Given the description of an element on the screen output the (x, y) to click on. 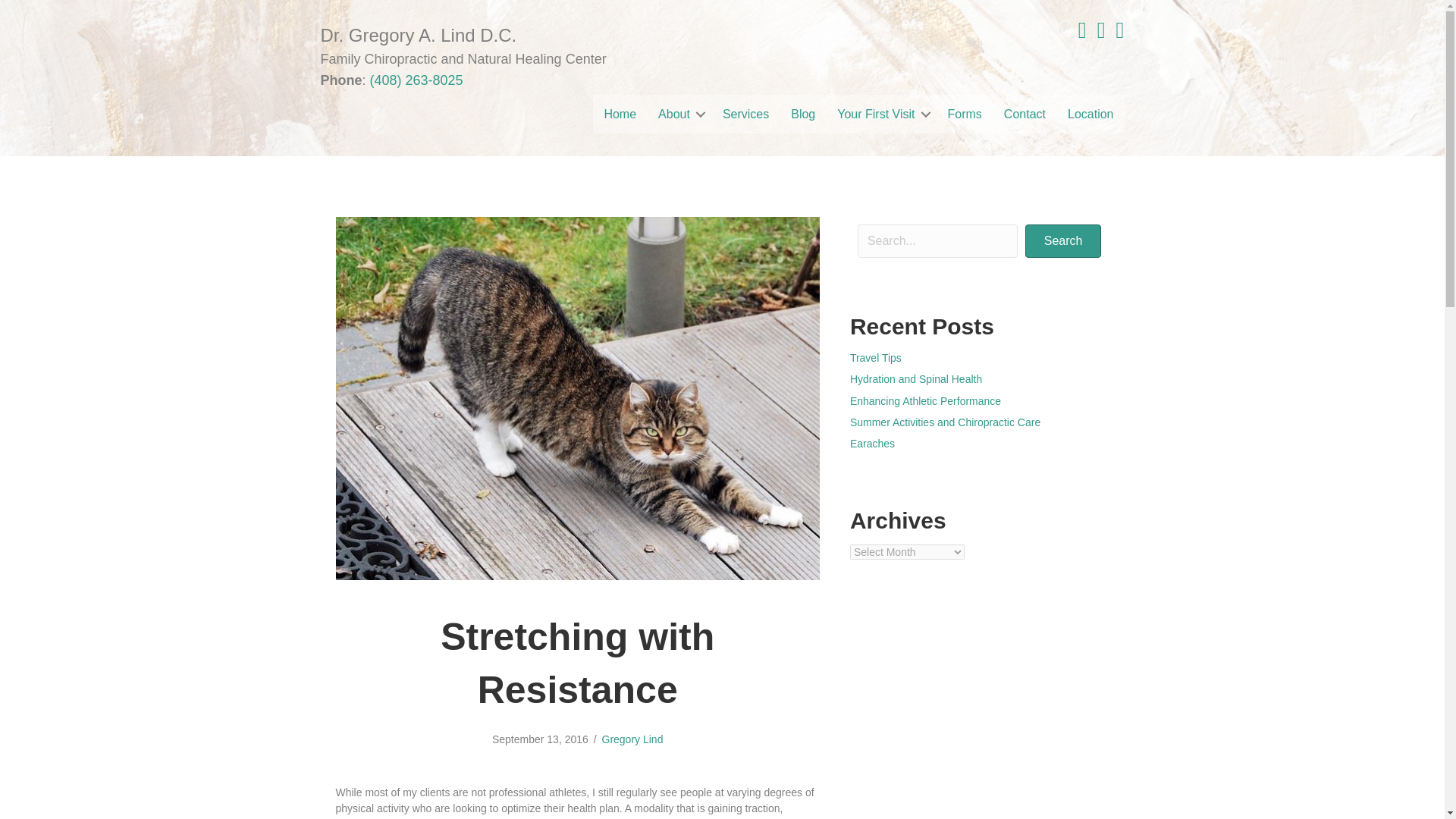
Travel Tips (875, 357)
Earaches (872, 443)
Your First Visit (881, 114)
About (679, 114)
Gregory Lind (632, 739)
Blog (802, 114)
Location (1090, 114)
Summer Activities and Chiropractic Care (945, 422)
Search (1063, 240)
Contact (1024, 114)
